Given the description of an element on the screen output the (x, y) to click on. 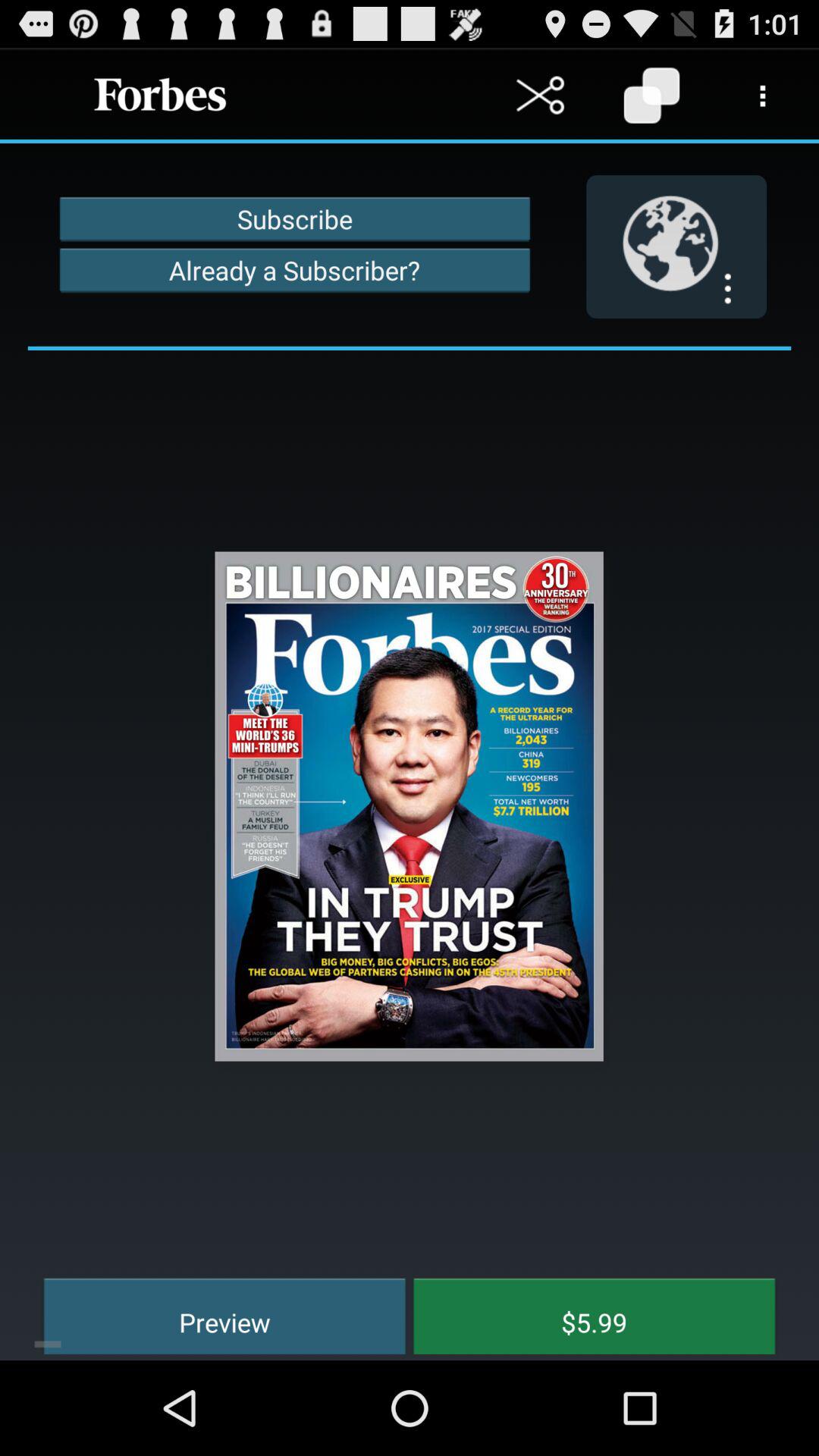
swipe to the subscribe icon (294, 218)
